Given the description of an element on the screen output the (x, y) to click on. 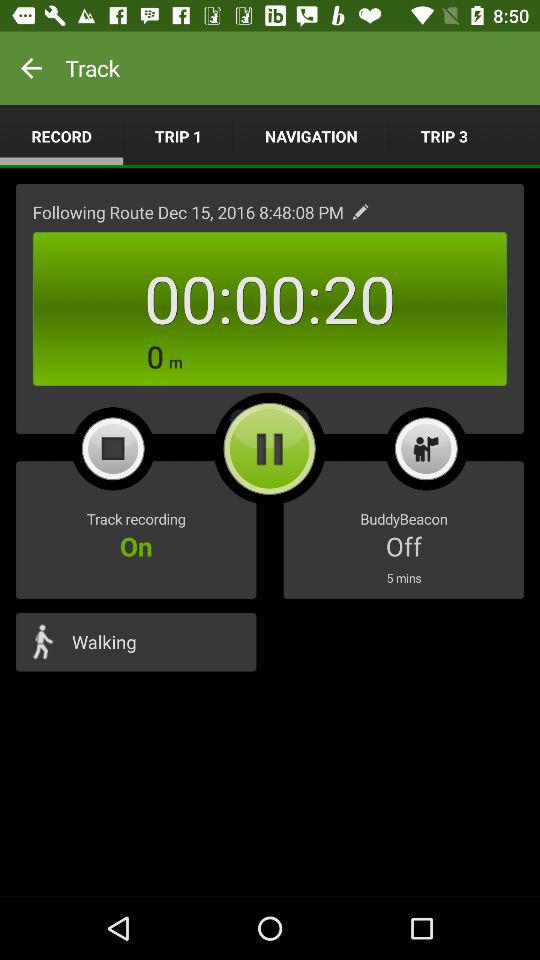
turn off the item next to the trip 1 (61, 136)
